Given the description of an element on the screen output the (x, y) to click on. 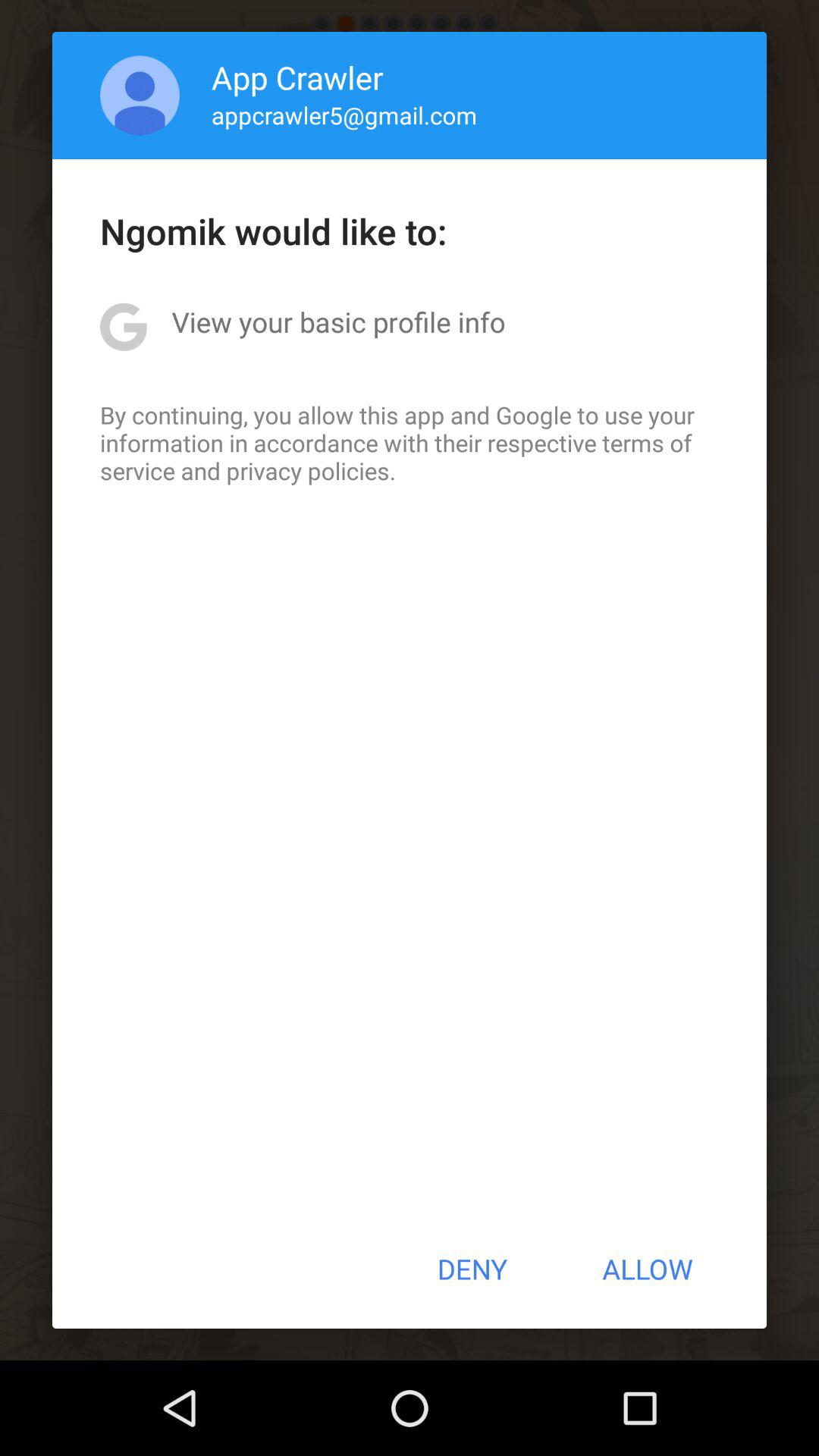
turn off the item above the by continuing you item (338, 321)
